Given the description of an element on the screen output the (x, y) to click on. 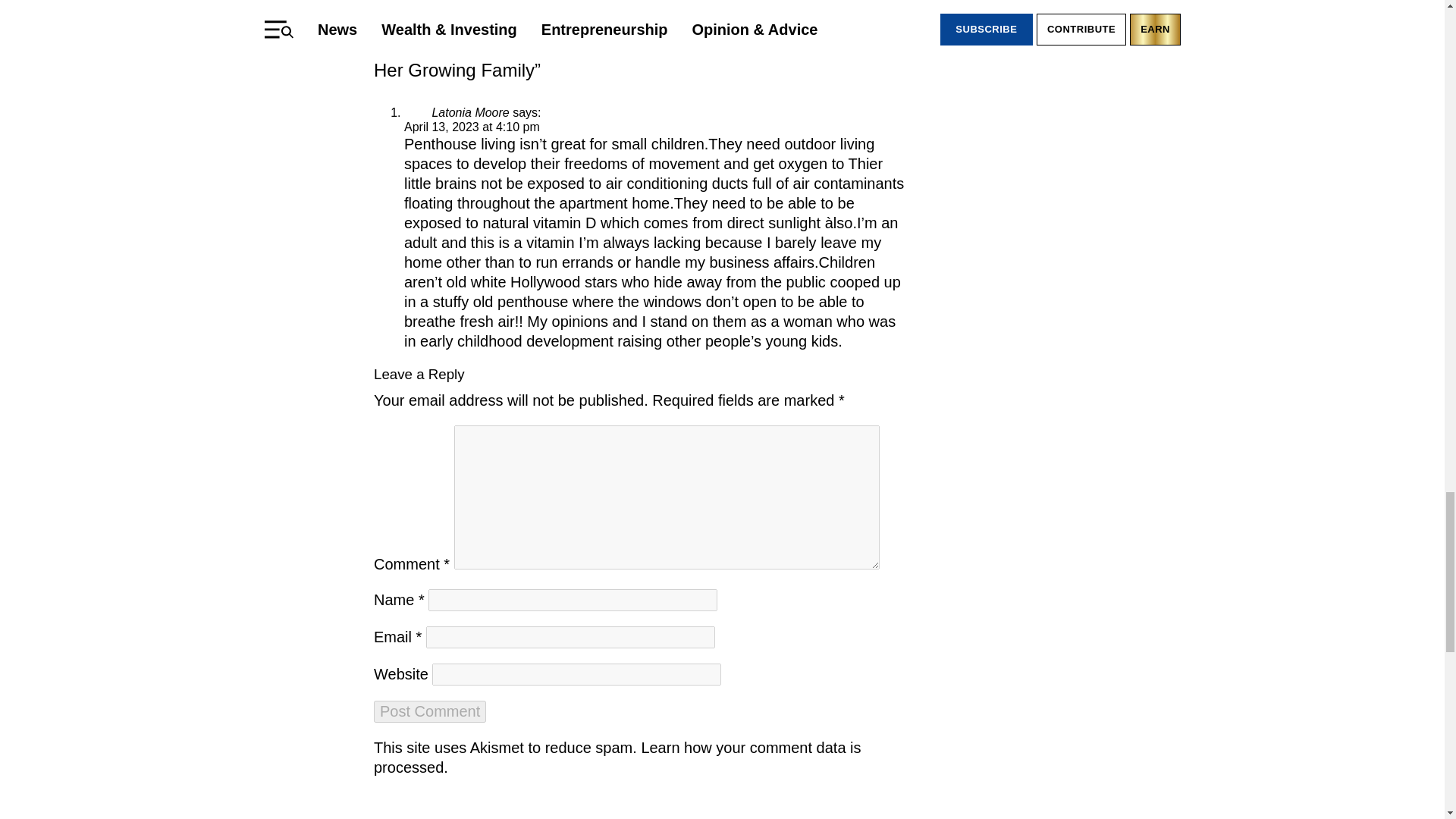
Post Comment (430, 711)
